Given the description of an element on the screen output the (x, y) to click on. 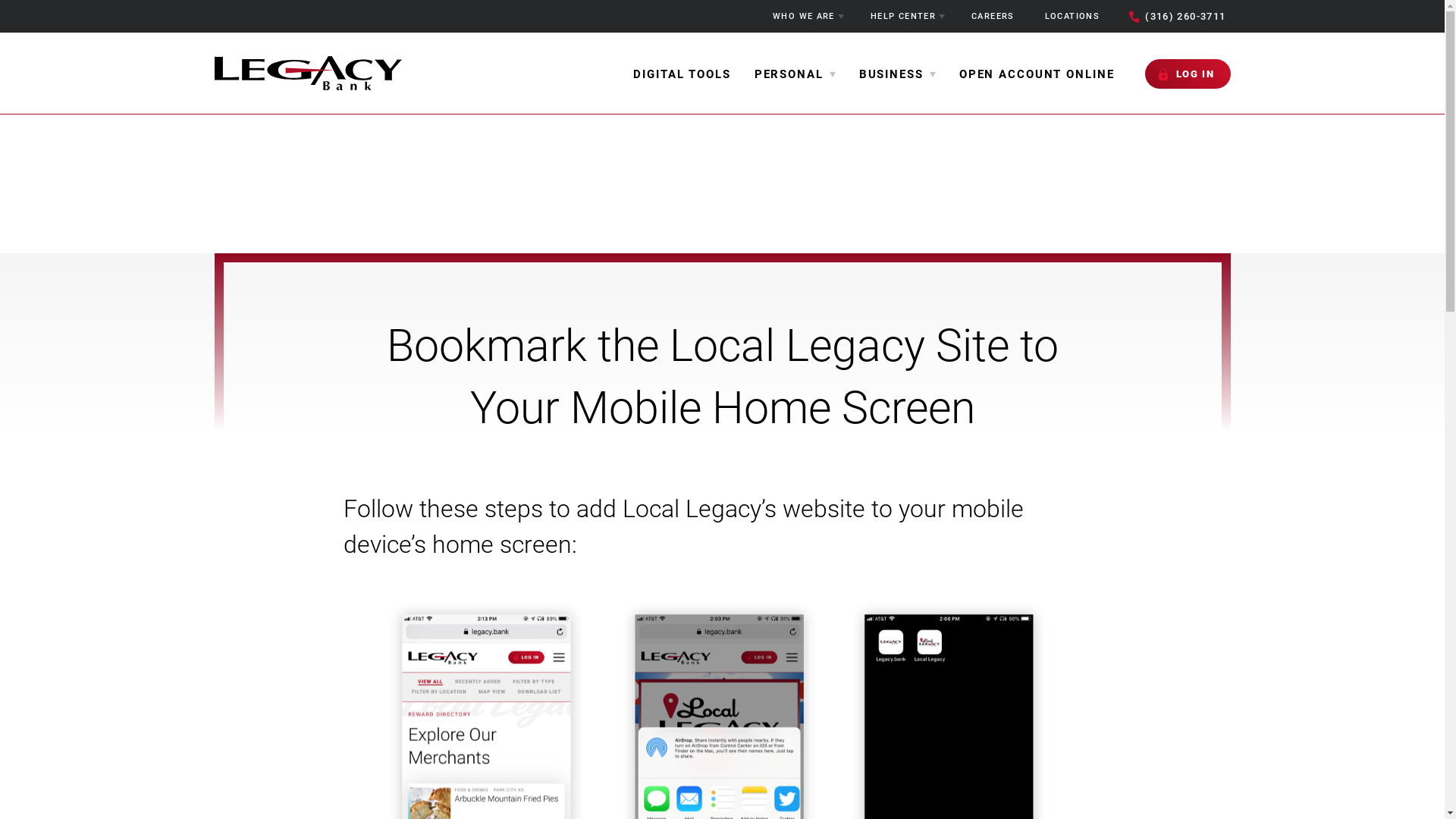
WHO WE ARE Element type: text (806, 16)
LOG IN Element type: text (1187, 73)
LOCATIONS Element type: text (1072, 16)
OPEN ACCOUNT ONLINE Element type: text (1036, 73)
BUSINESS Element type: text (897, 73)
(316) 260-3711 Element type: text (1176, 16)
PERSONAL Element type: text (794, 73)
DIGITAL TOOLS Element type: text (681, 73)
CAREERS Element type: text (992, 16)
HELP CENTER Element type: text (905, 16)
